Given the description of an element on the screen output the (x, y) to click on. 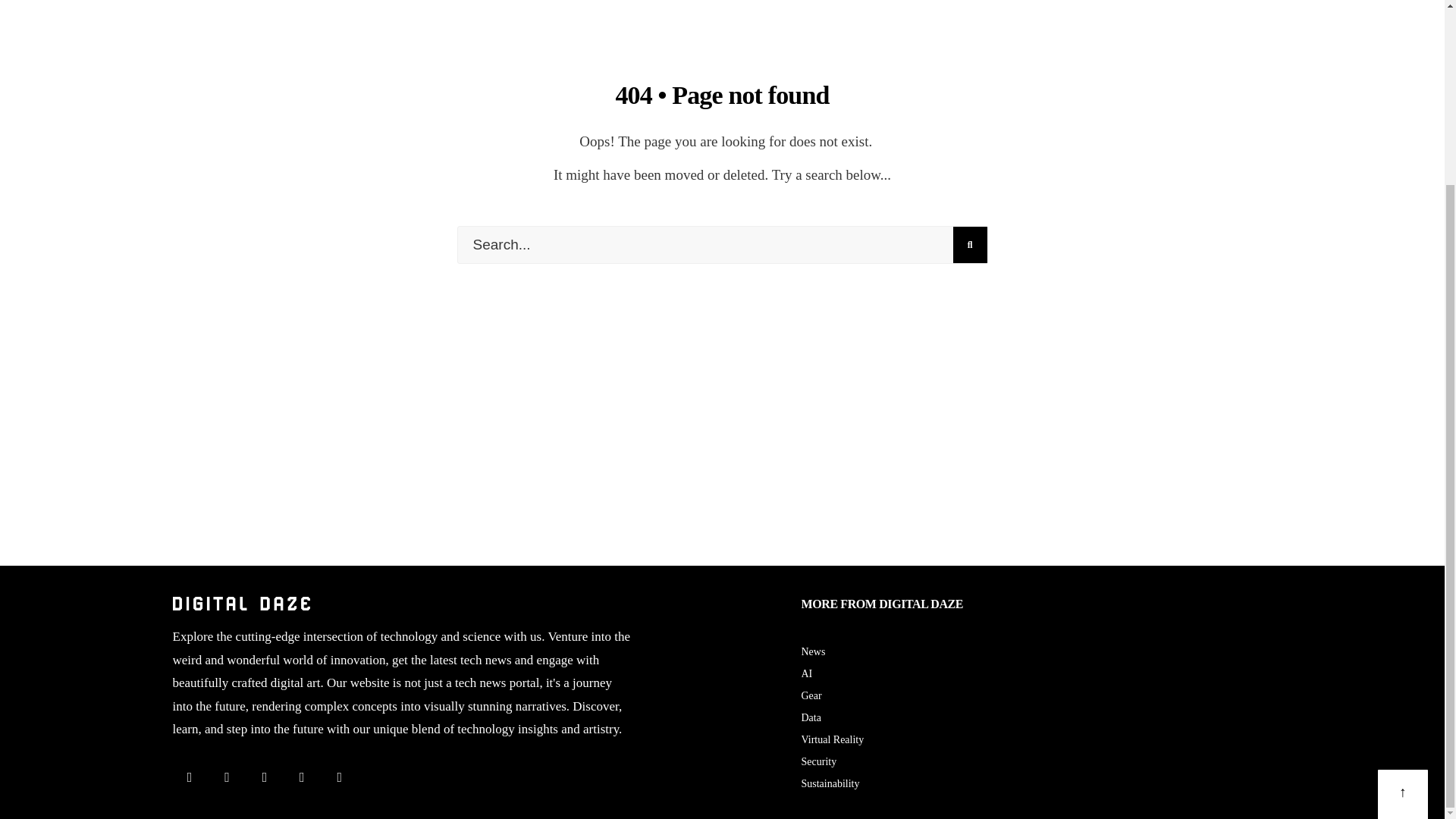
Scroll to top (1402, 566)
News (812, 651)
Gear (810, 695)
Sustainability (829, 783)
AI (806, 673)
Data (810, 717)
Virtual Reality (831, 739)
Security (817, 761)
Search... (722, 244)
